Given the description of an element on the screen output the (x, y) to click on. 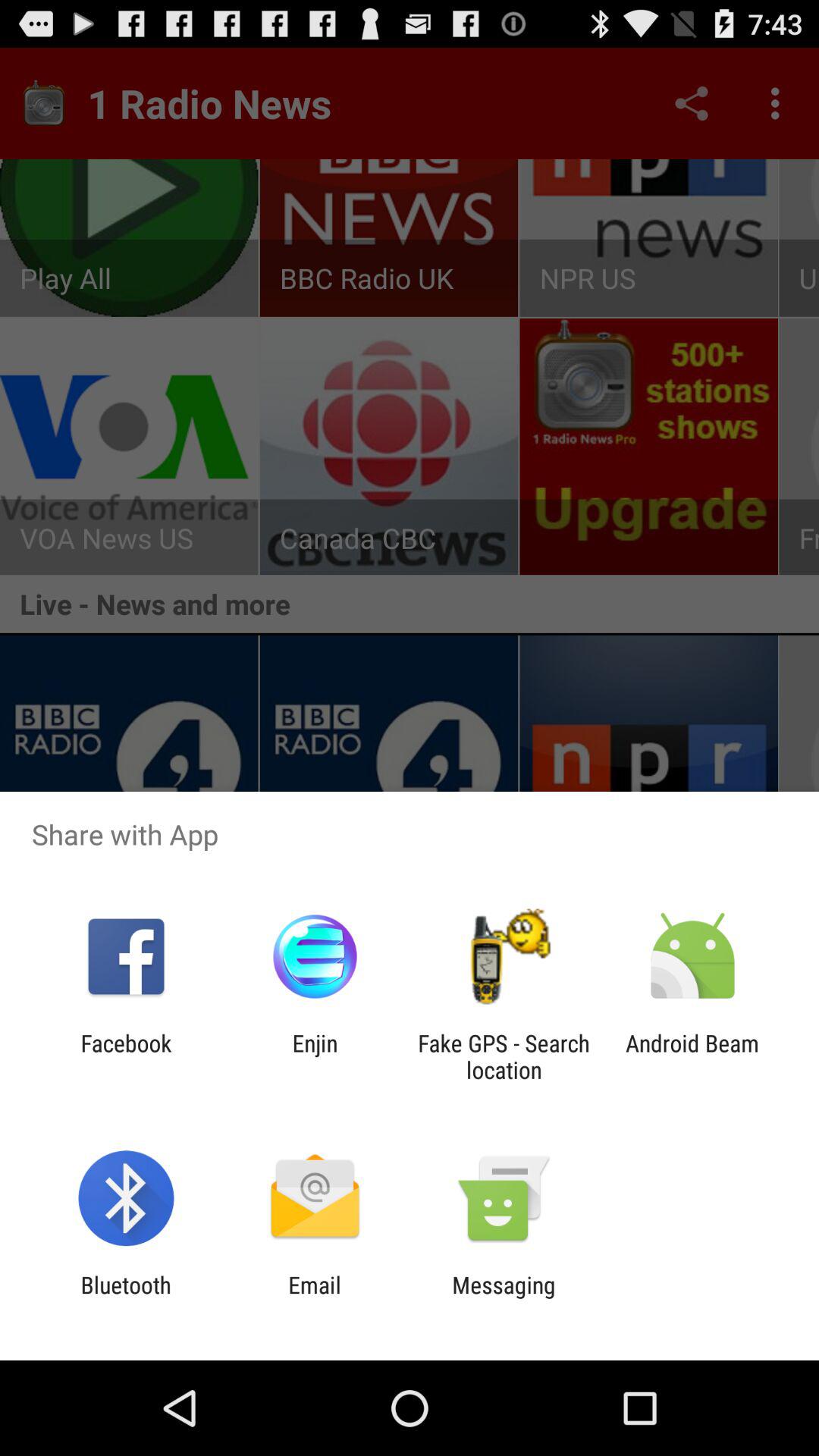
select app to the right of the enjin (503, 1056)
